Given the description of an element on the screen output the (x, y) to click on. 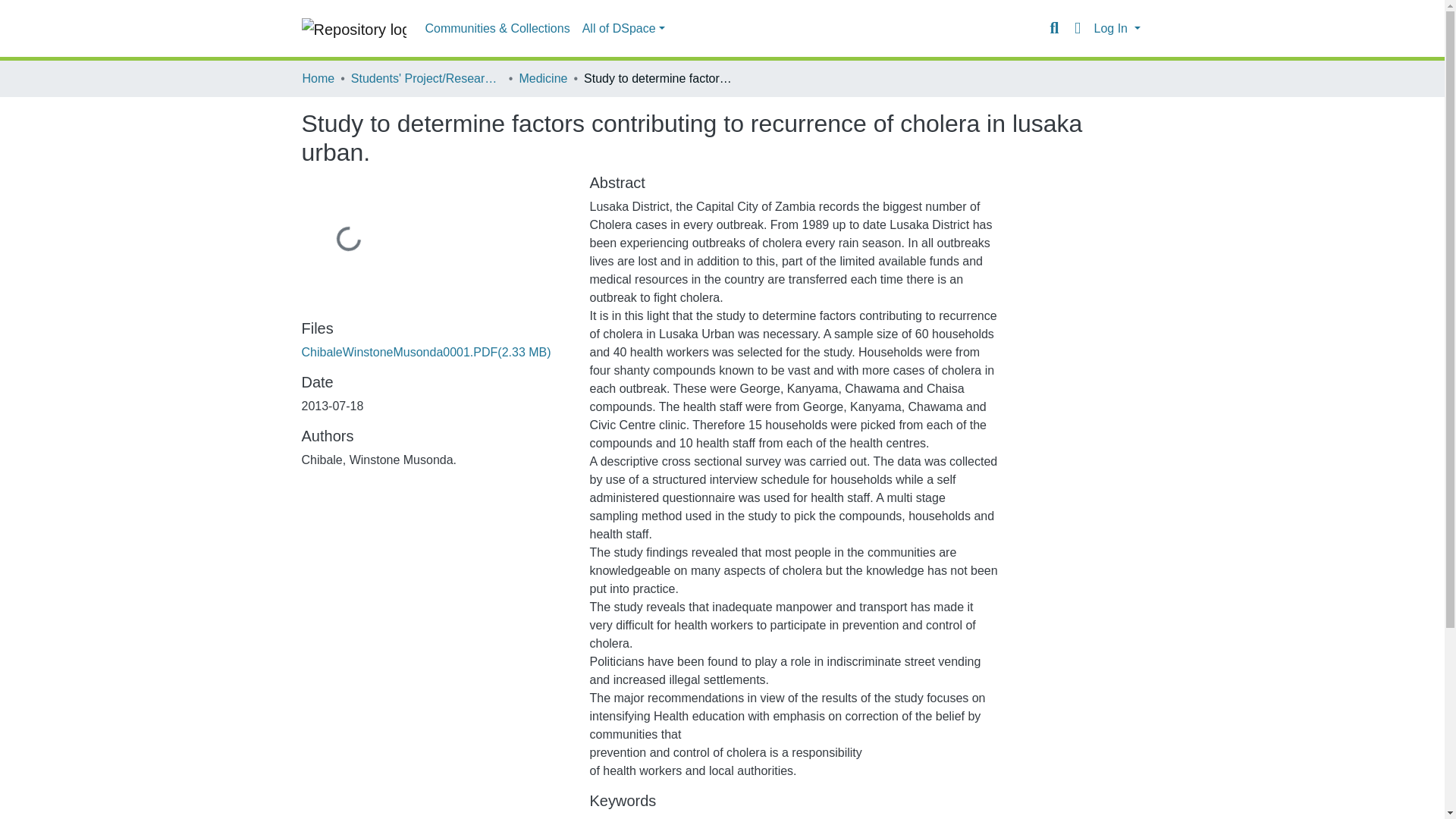
Log In (1116, 28)
All of DSpace (623, 28)
Language switch (1077, 28)
Home (317, 78)
Search (1053, 28)
Medicine (542, 78)
